Given the description of an element on the screen output the (x, y) to click on. 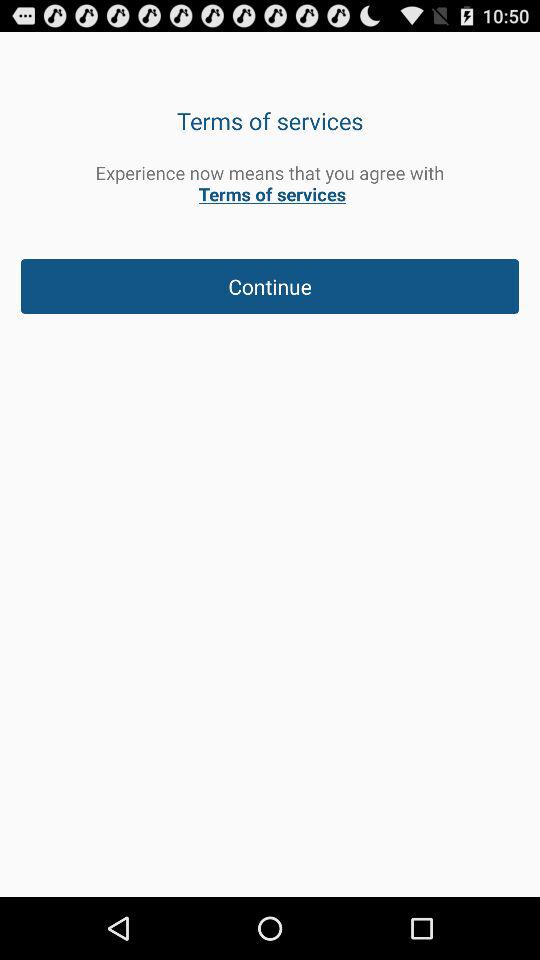
click continue icon (270, 286)
